Given the description of an element on the screen output the (x, y) to click on. 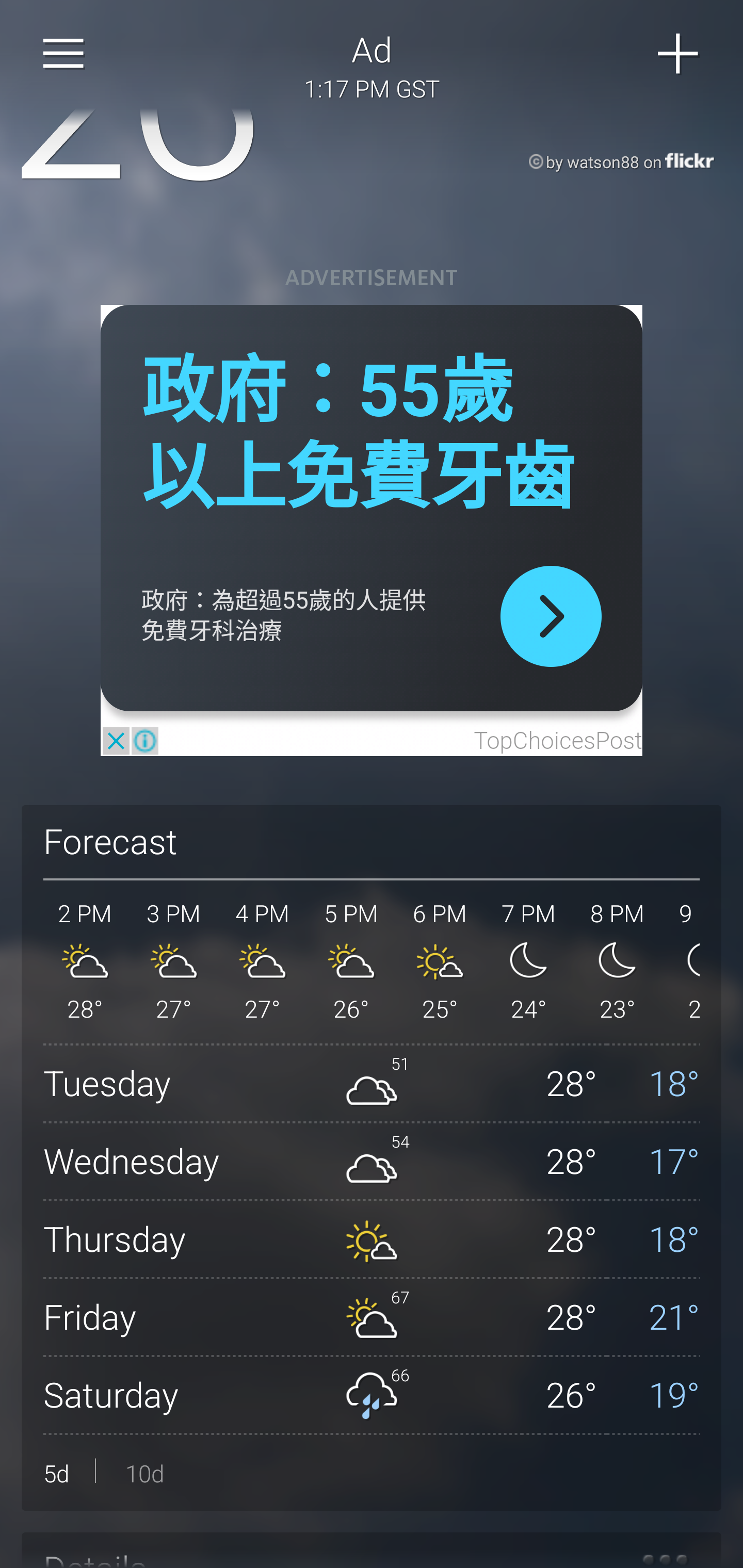
Sidebar (64, 54)
Add City (678, 53)
政府：55歲 以上免費牙齒 政府：55歲 
 以上免費牙齒 (357, 435)
政府：為超過55歲的人提供 免費牙科治療 政府：為超過55歲的人提供 
 免費牙科治療 (283, 616)
TopChoicesPost (557, 742)
